Given the description of an element on the screen output the (x, y) to click on. 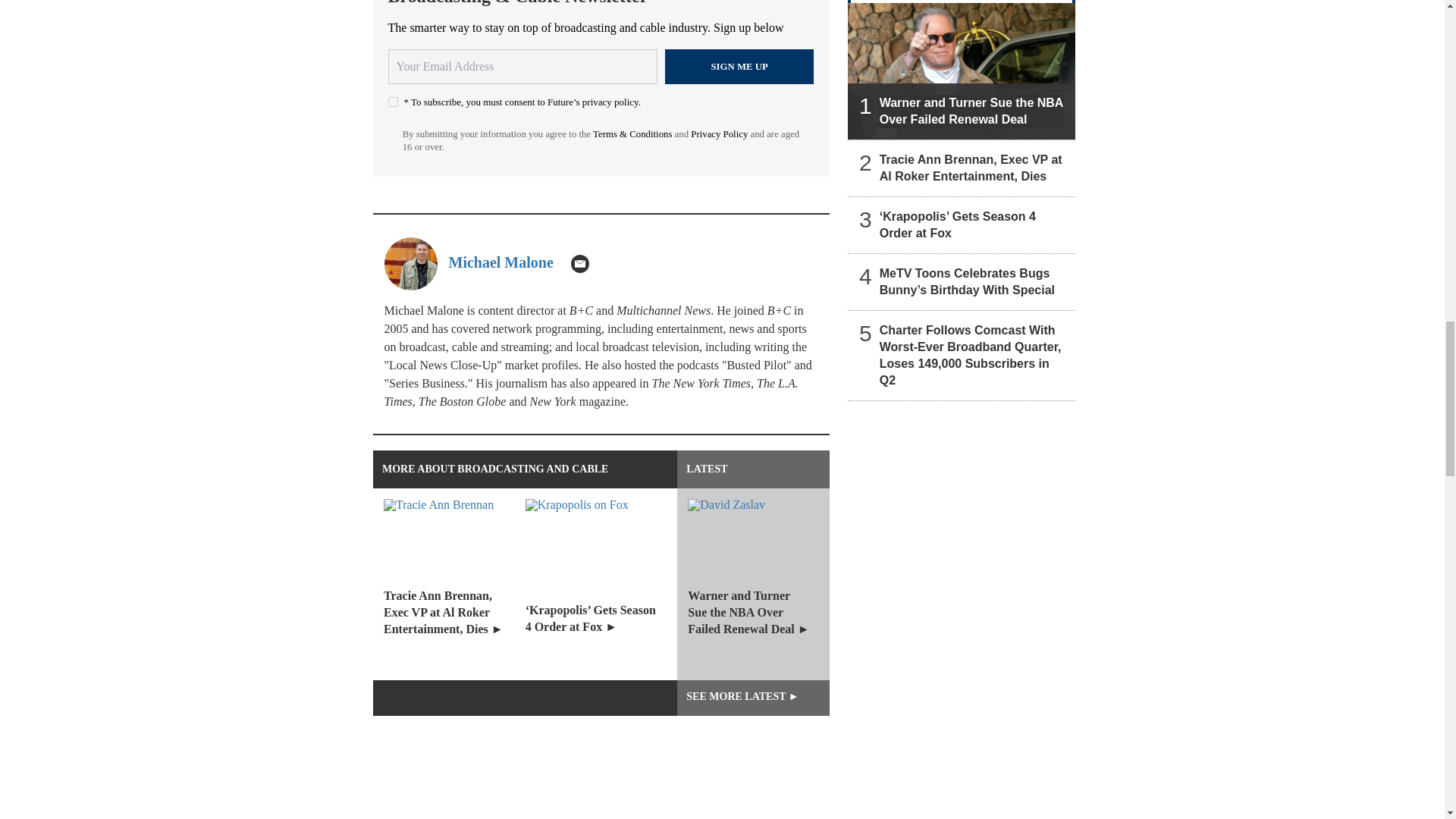
Sign me up (739, 66)
Privacy Policy (719, 133)
Warner and Turner Sue the NBA Over Failed Renewal Deal (961, 71)
Sign me up (739, 66)
on (392, 102)
